Given the description of an element on the screen output the (x, y) to click on. 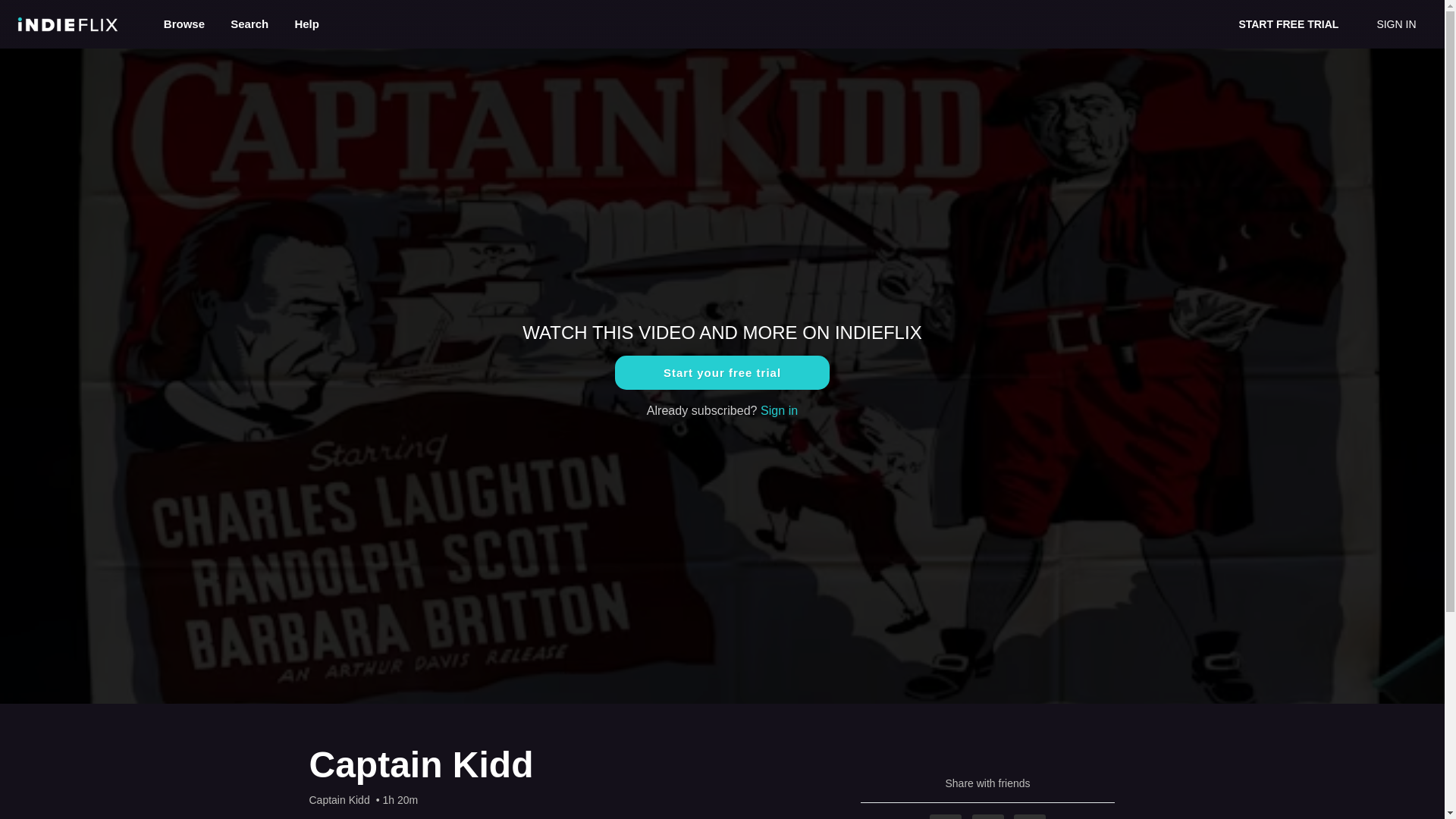
Captain Kidd (338, 799)
Facebook (945, 816)
Sign in (778, 409)
START FREE TRIAL (1288, 24)
Twitter (988, 816)
Browse (185, 23)
Help (306, 23)
Skip to main content (48, 7)
Email (1029, 816)
Search (250, 23)
Start your free trial (721, 372)
SIGN IN (1395, 24)
